Given the description of an element on the screen output the (x, y) to click on. 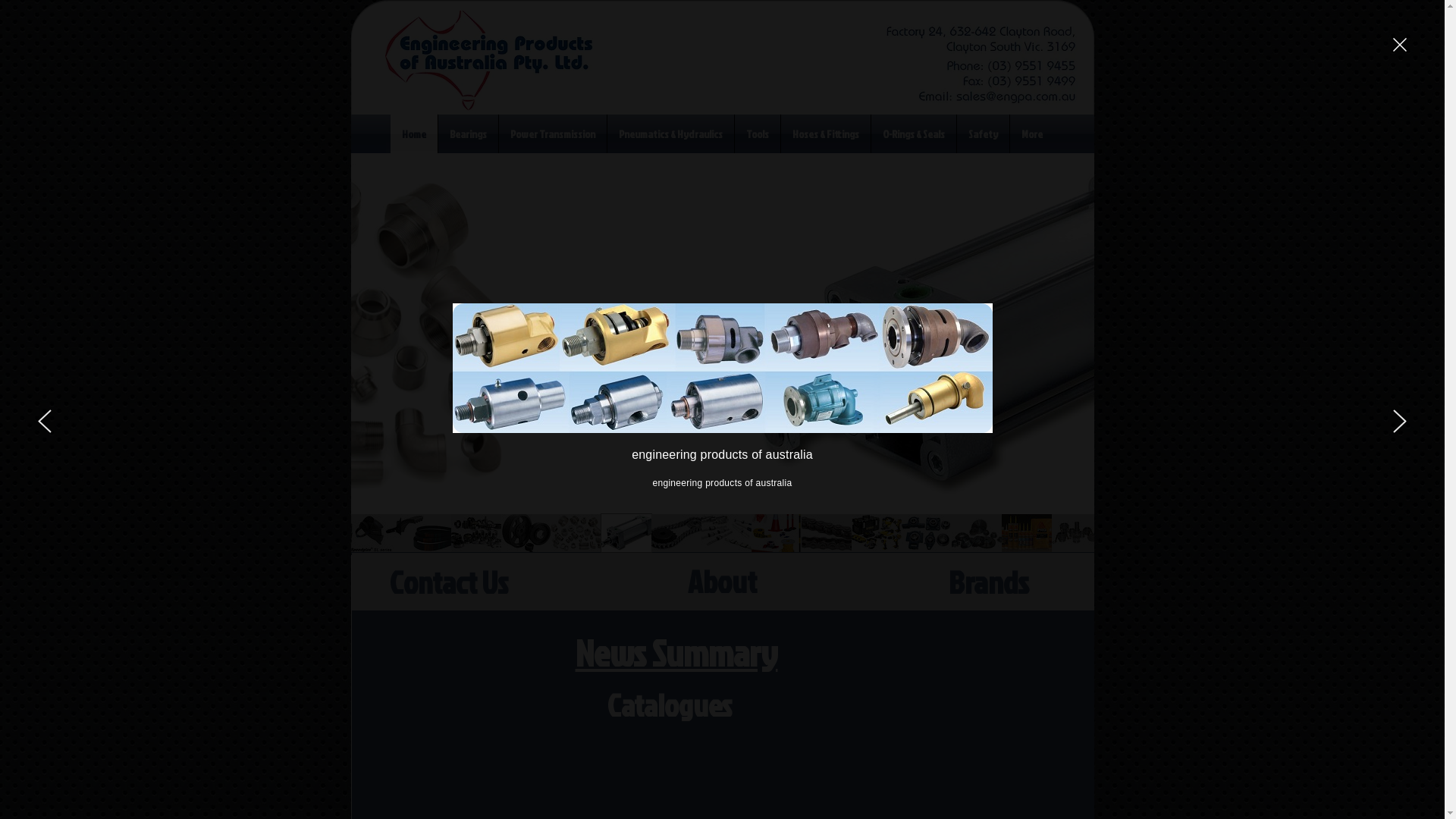
Hoses & Fittings Element type: text (825, 132)
Home Element type: text (413, 132)
O-Rings & Seals Element type: text (913, 132)
Bearings Element type: text (468, 132)
Brands Element type: text (988, 582)
Power Transmission Element type: text (552, 132)
About Element type: text (721, 580)
Safety Element type: text (983, 132)
Contact Us Element type: text (448, 582)
Pneumatics & Hydraulics Element type: text (670, 132)
Catalogues Element type: text (668, 705)
Tools Element type: text (757, 132)
